Given the description of an element on the screen output the (x, y) to click on. 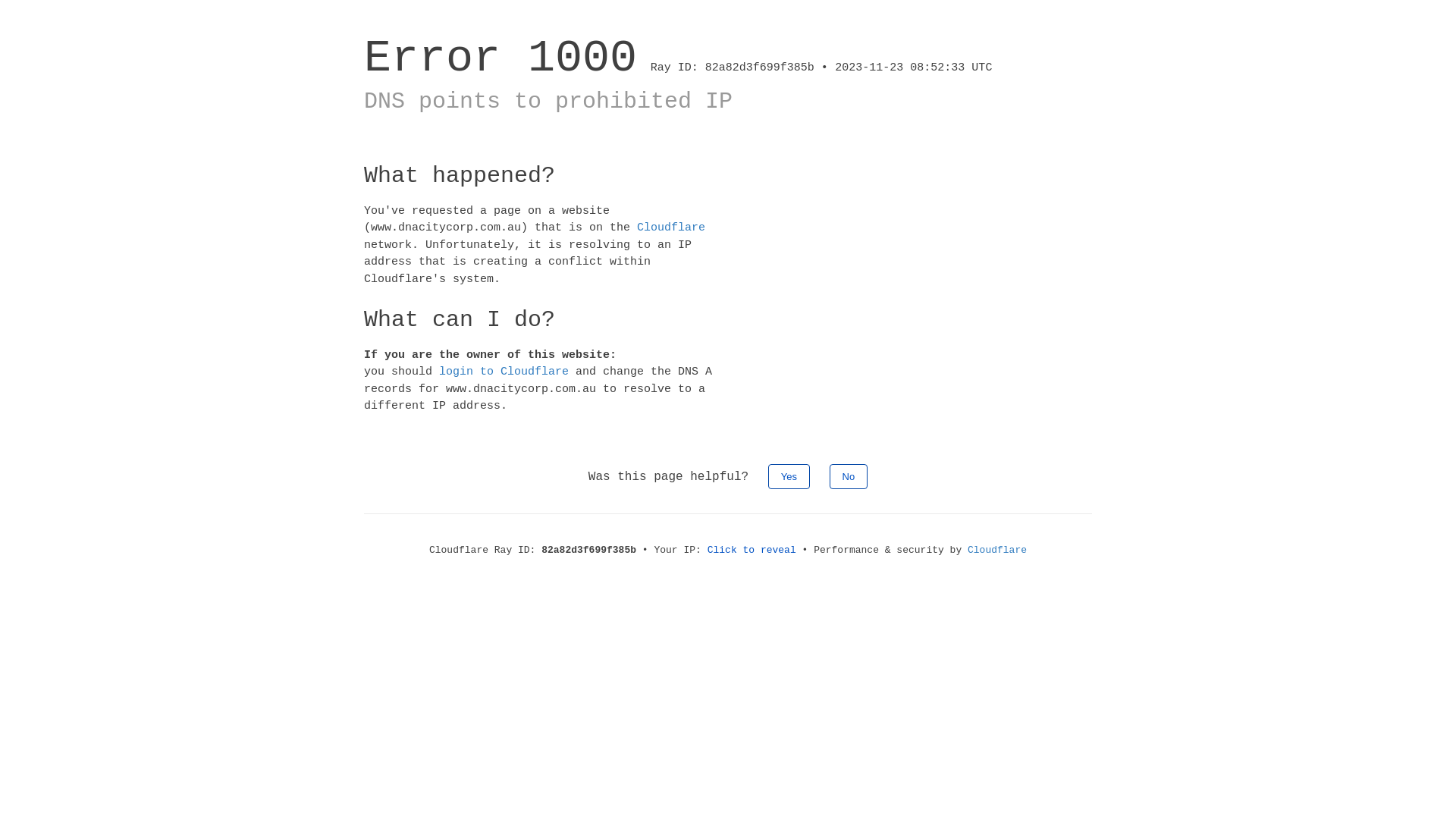
Cloudflare Element type: text (996, 549)
No Element type: text (848, 476)
Click to reveal Element type: text (751, 549)
Cloudflare Element type: text (671, 227)
login to Cloudflare Element type: text (503, 371)
Yes Element type: text (788, 476)
